Given the description of an element on the screen output the (x, y) to click on. 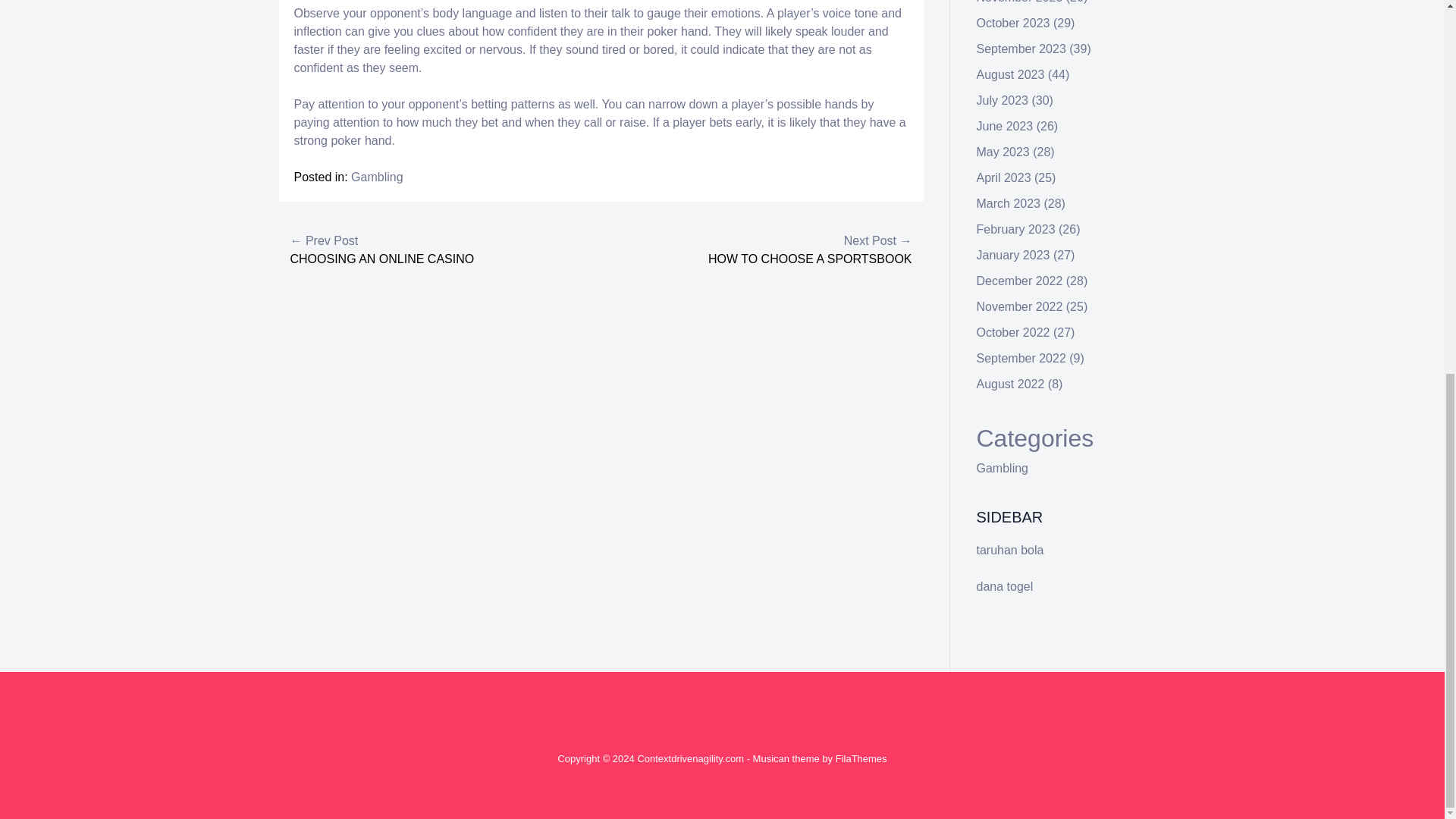
Gambling (376, 176)
August 2023 (1010, 74)
September 2023 (1020, 48)
March 2023 (1008, 203)
November 2022 (1019, 306)
November 2023 (1019, 2)
October 2023 (1012, 22)
September 2022 (1020, 358)
February 2023 (1015, 228)
August 2022 (1010, 383)
July 2023 (1002, 100)
June 2023 (1004, 125)
Contextdrivenagility.com (690, 758)
Gambling (1001, 468)
October 2022 (1012, 332)
